Given the description of an element on the screen output the (x, y) to click on. 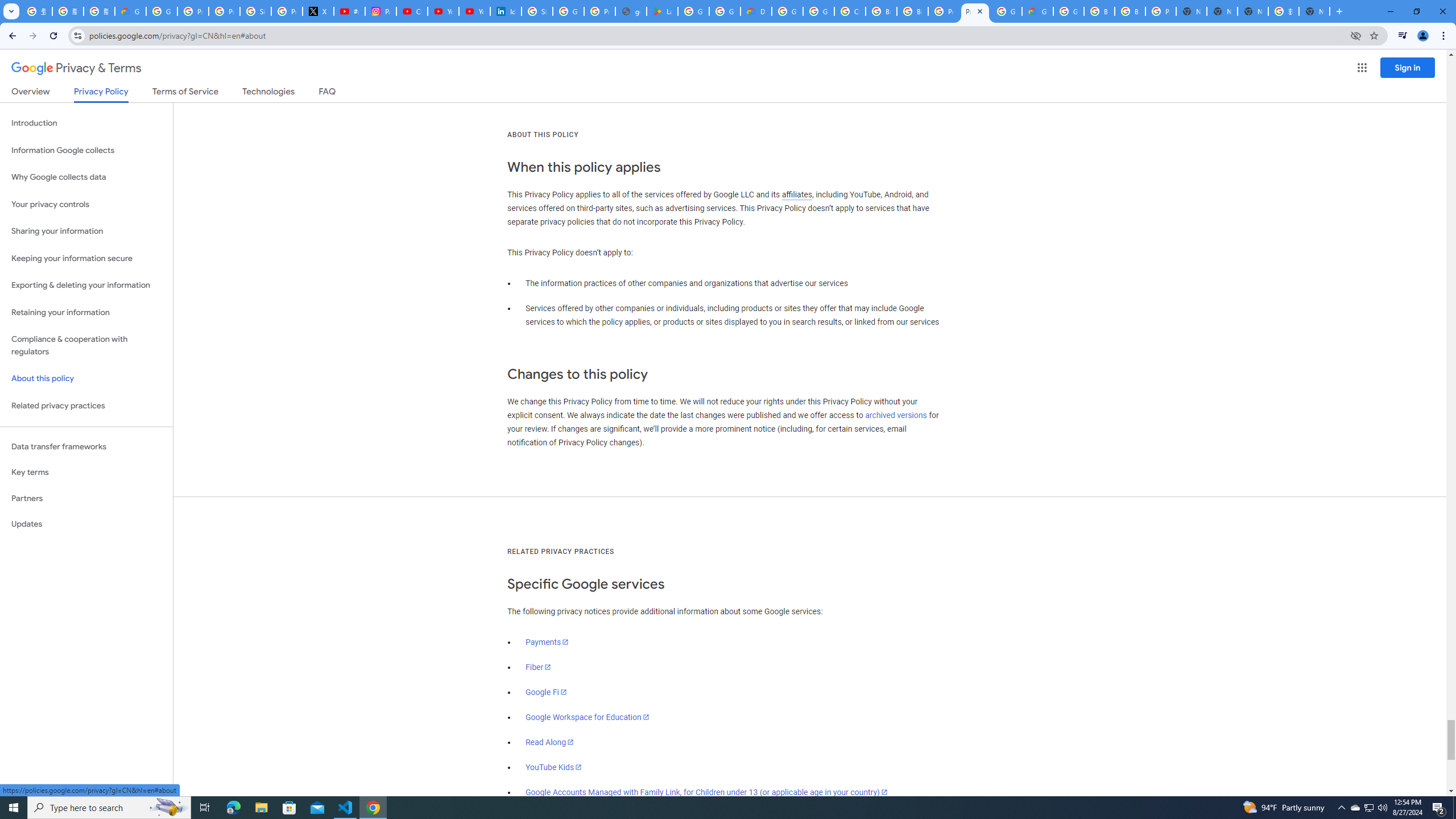
Sign in - Google Accounts (536, 11)
Google Cloud Platform (1068, 11)
Related privacy practices (86, 405)
Google Cloud Privacy Notice (130, 11)
Key terms (86, 472)
Last Shelter: Survival - Apps on Google Play (662, 11)
X (318, 11)
